Given the description of an element on the screen output the (x, y) to click on. 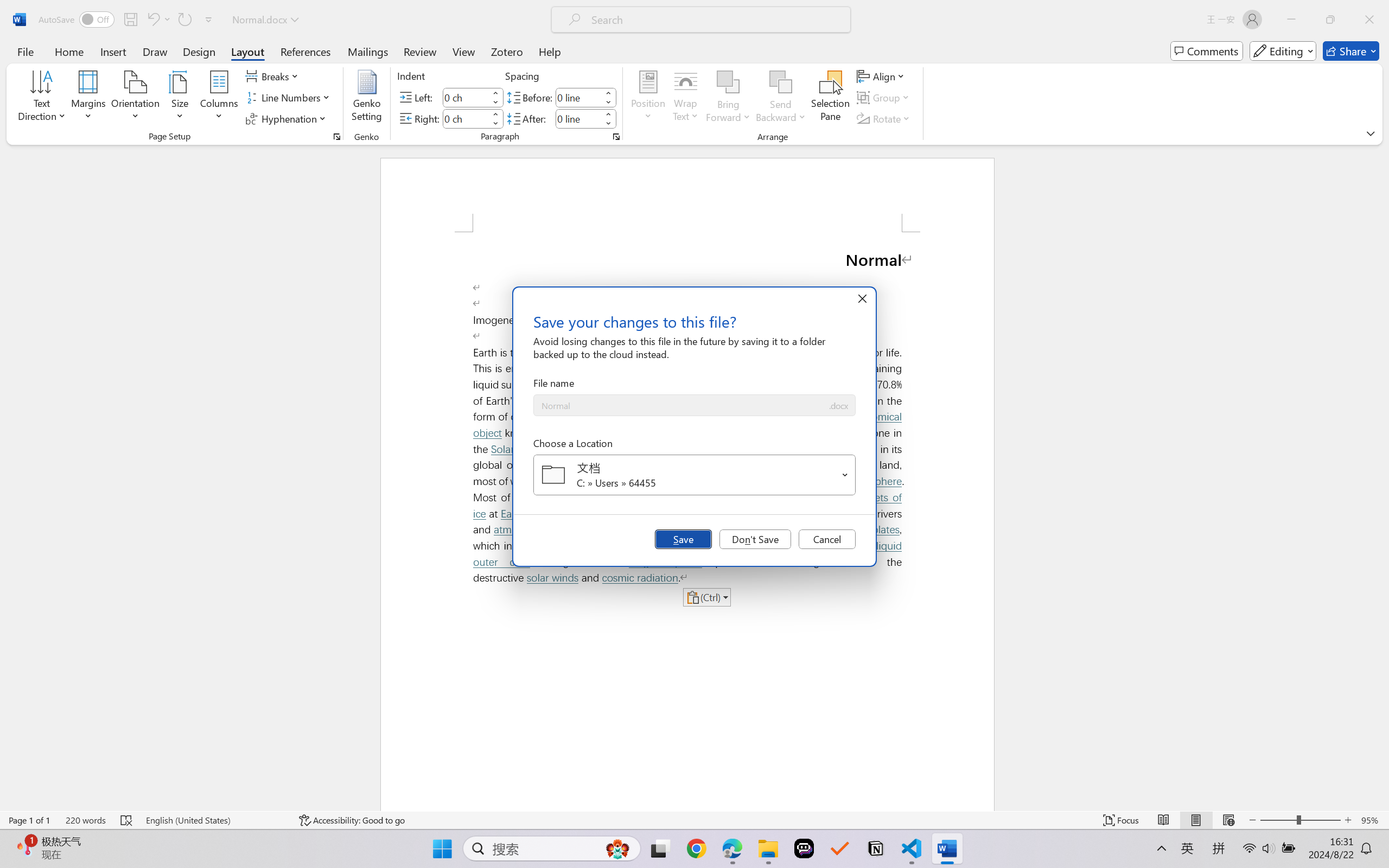
Action: Paste alternatives (706, 597)
Hyphenation (287, 118)
Bring Forward (728, 81)
Header -Section 1- (687, 194)
Less (608, 123)
Group (884, 97)
Choose a Location (694, 474)
Wrap Text (685, 97)
Spelling and Grammar Check Errors (126, 819)
